Given the description of an element on the screen output the (x, y) to click on. 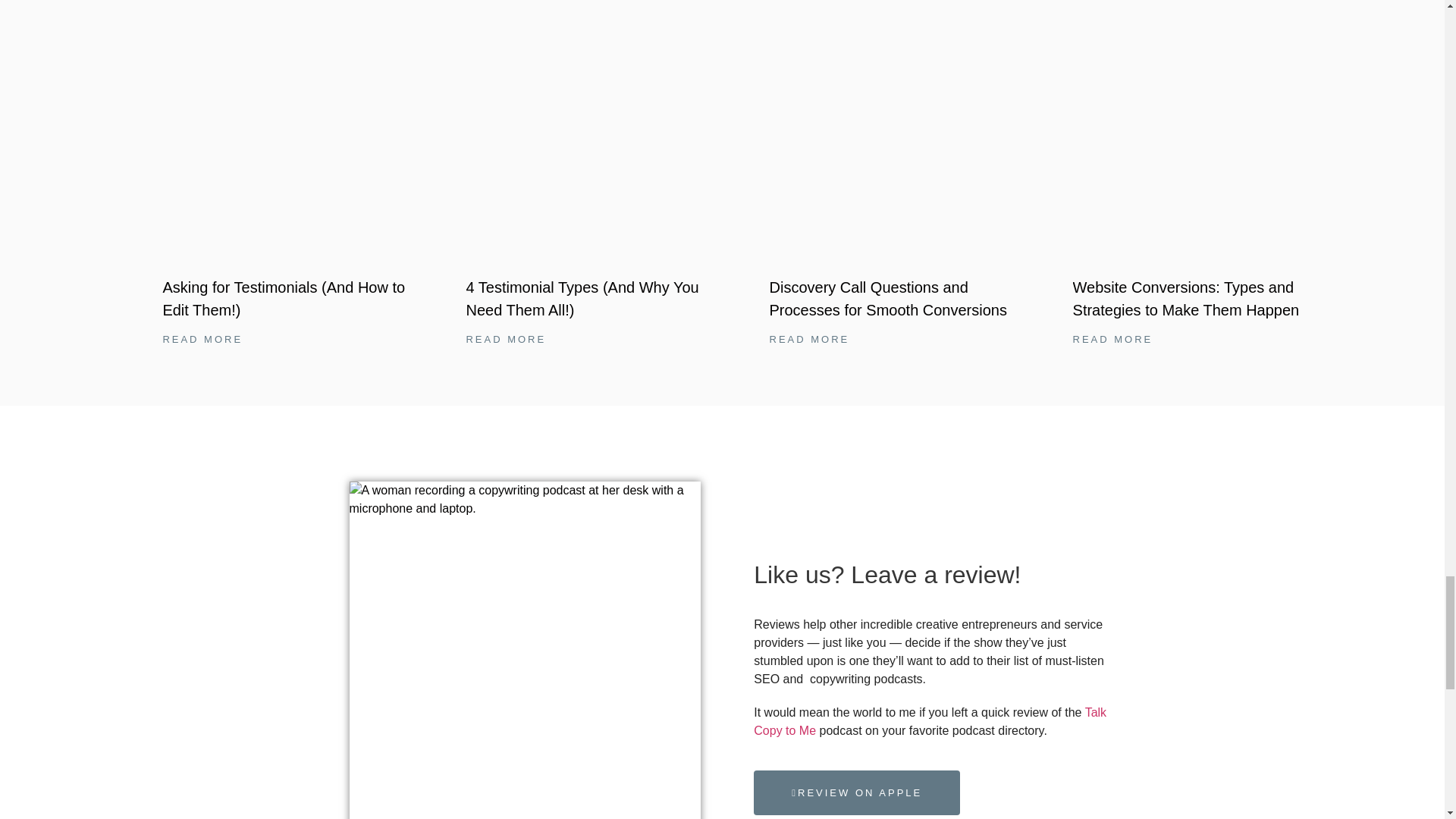
Talk Copy to Me (930, 721)
READ MORE (808, 338)
READ MORE (1113, 338)
READ MORE (505, 338)
READ MORE (202, 338)
REVIEW ON APPLE (856, 792)
